Given the description of an element on the screen output the (x, y) to click on. 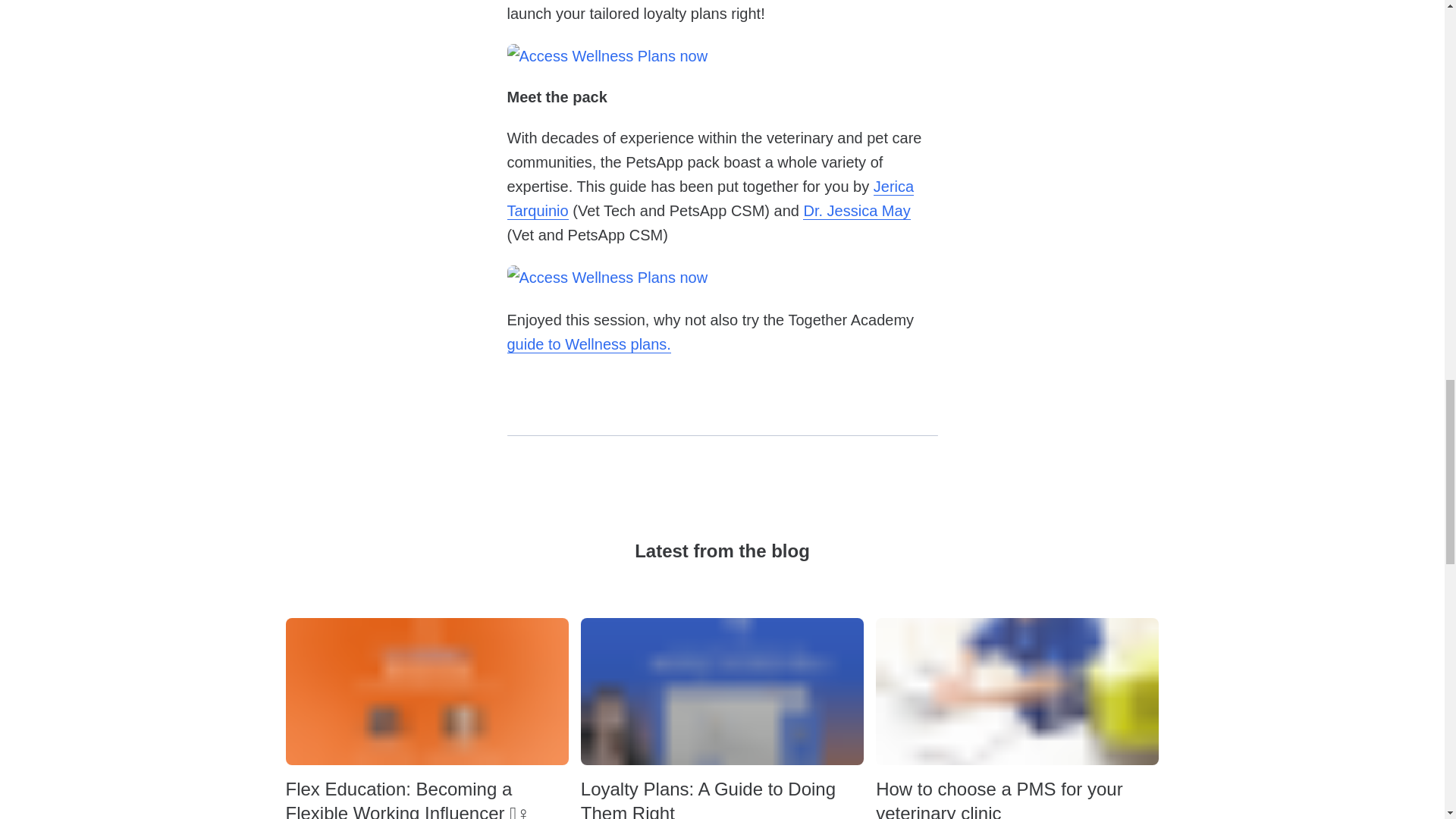
Dr. Jessica May (856, 211)
guide to Wellness plans. (587, 343)
How to choose a PMS for your veterinary clinic (1017, 798)
Loyalty Plans: A Guide to Doing Them Right (721, 798)
Jerica Tarquinio (710, 199)
